Given the description of an element on the screen output the (x, y) to click on. 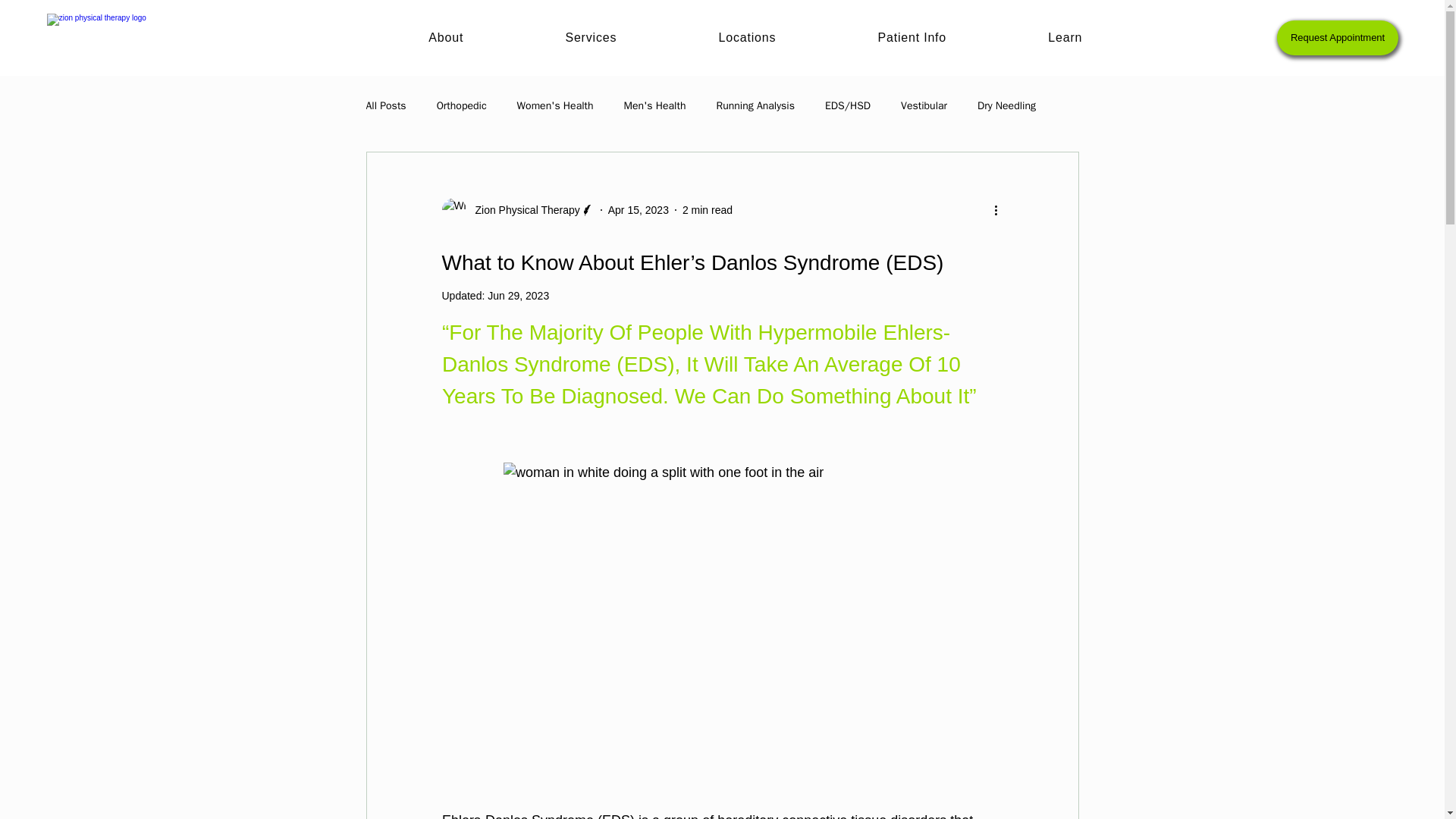
Orthopedic (461, 106)
2 min read (707, 209)
Running Analysis (754, 106)
Zion Physical Therapy (522, 209)
Apr 15, 2023 (638, 209)
Dry Needling (1005, 106)
All Posts (385, 106)
Men's Health (654, 106)
Request Appointment (1336, 37)
Vestibular (924, 106)
